Given the description of an element on the screen output the (x, y) to click on. 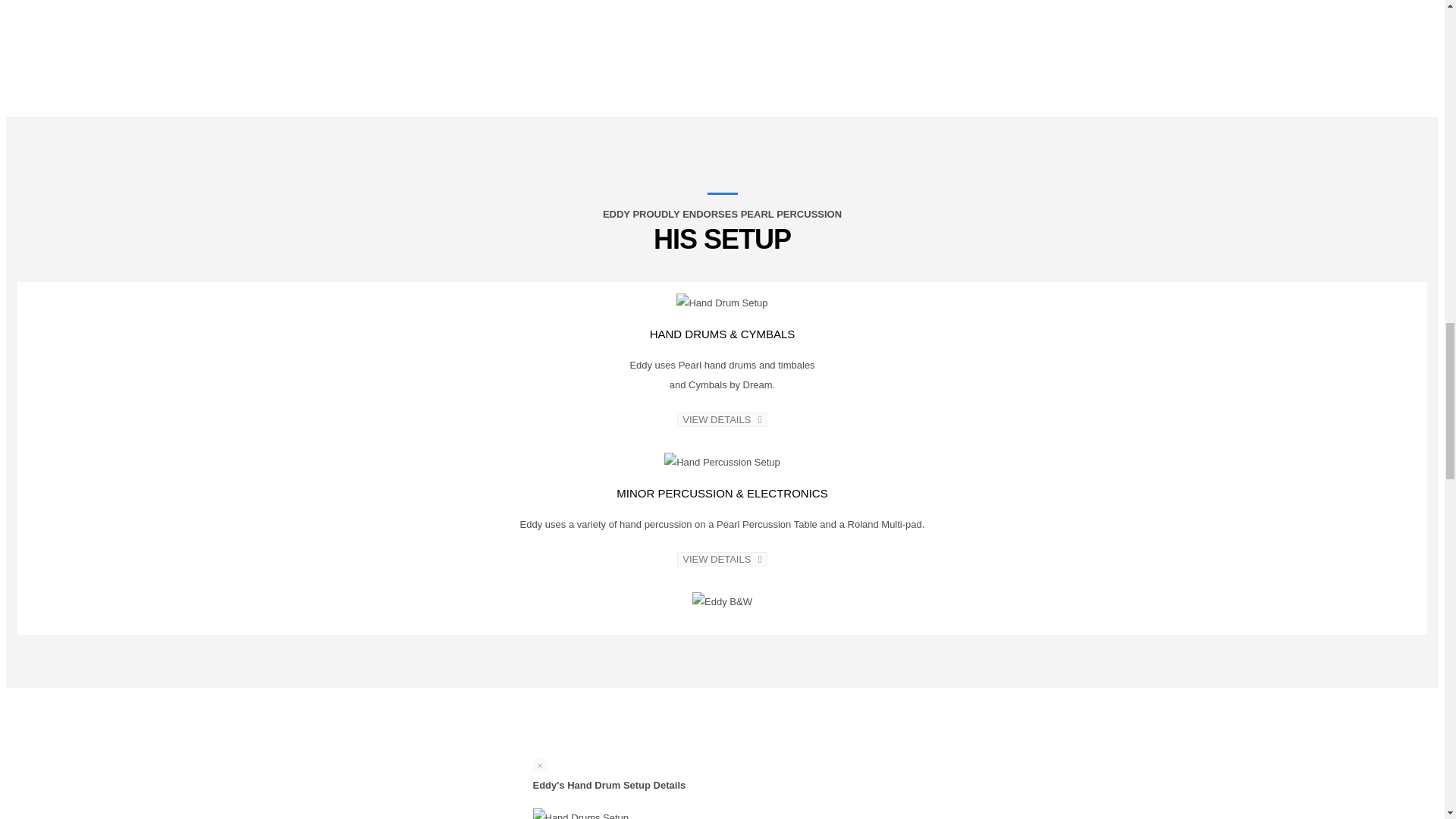
VIEW HIS SETUP (130, 4)
VIEW DETAILS (722, 419)
VIEW DETAILS (722, 559)
